Given the description of an element on the screen output the (x, y) to click on. 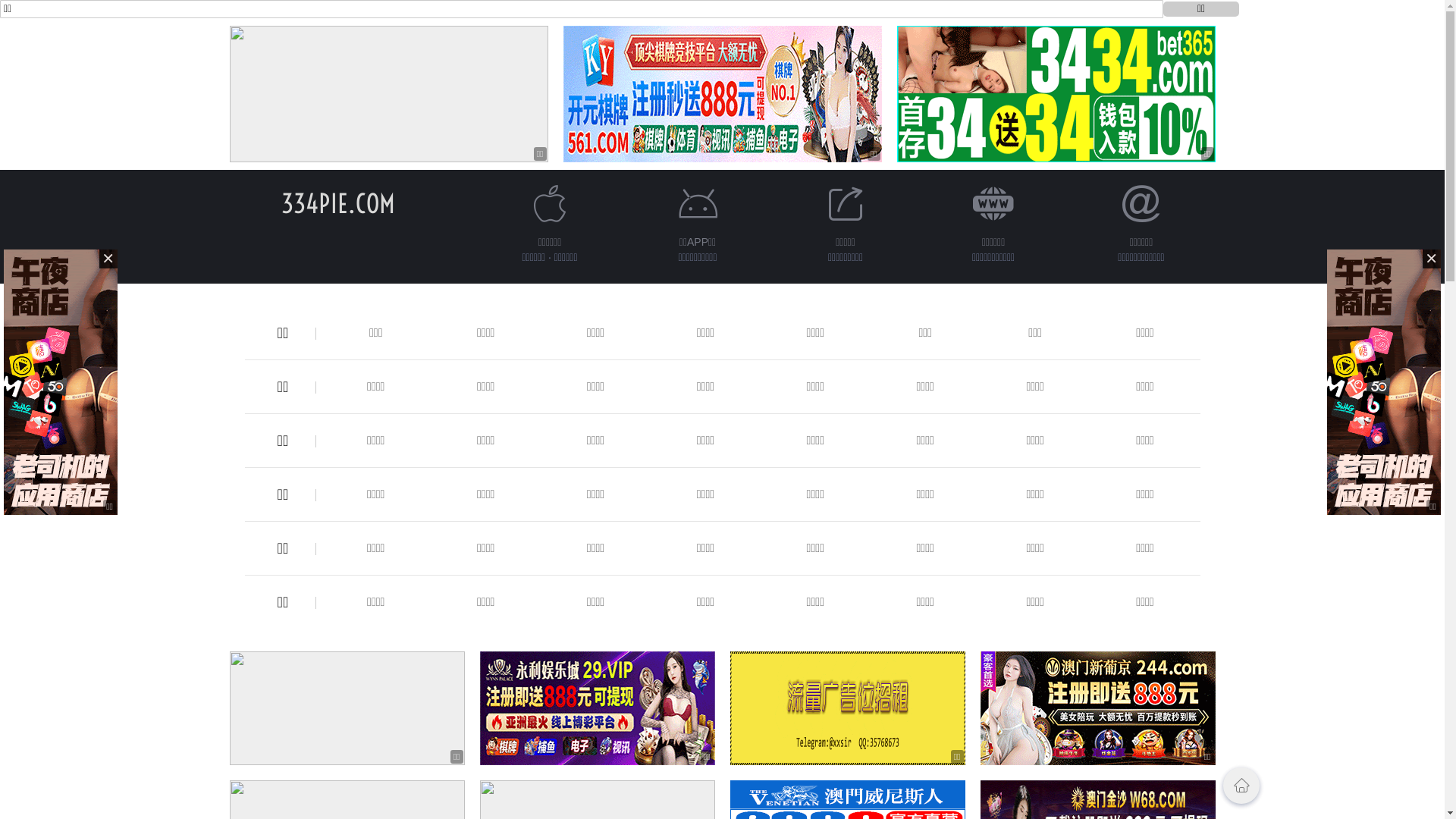
334PIE.COM Element type: text (337, 203)
